Given the description of an element on the screen output the (x, y) to click on. 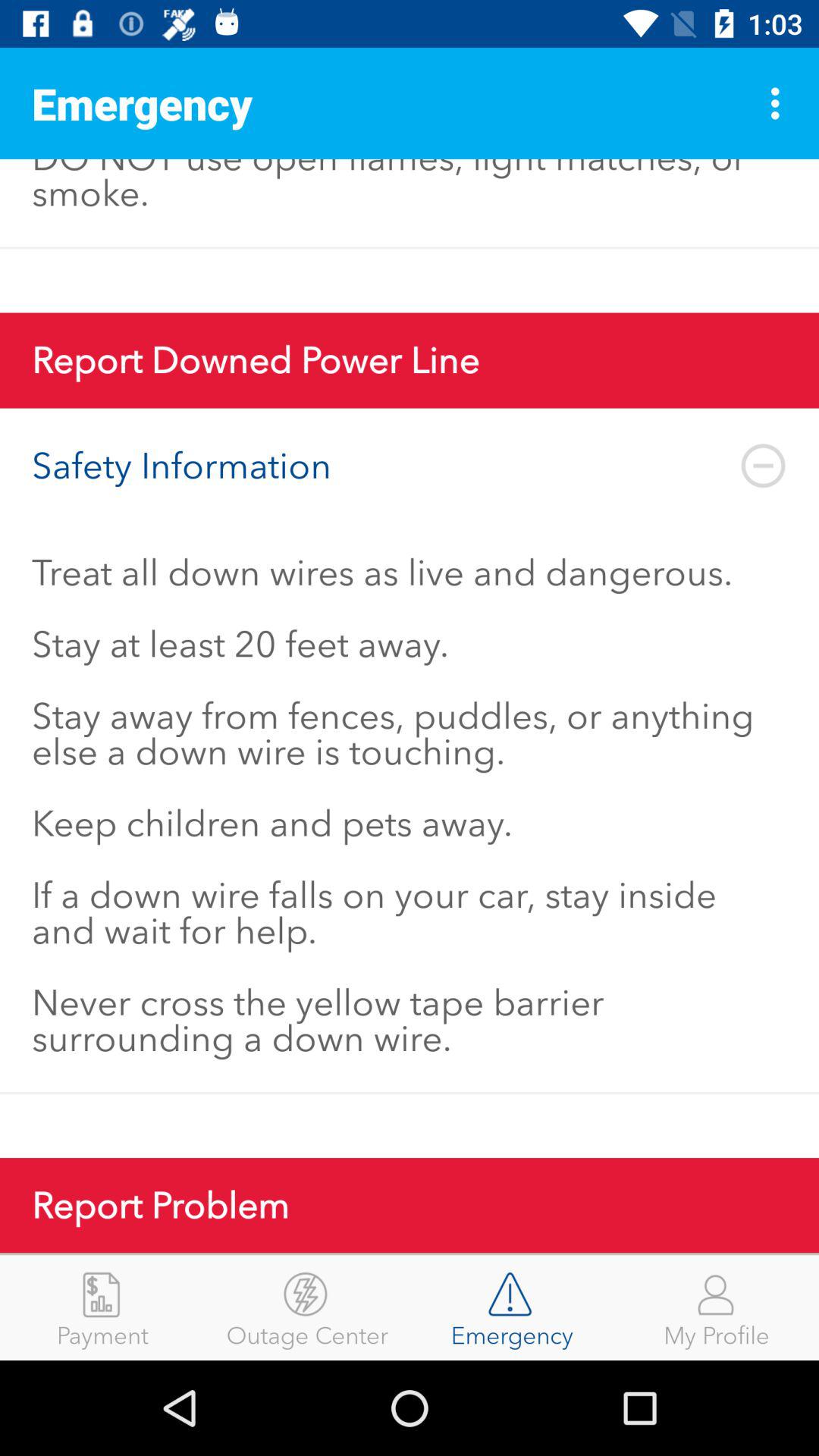
choose the item above the gas leaks are (779, 103)
